Given the description of an element on the screen output the (x, y) to click on. 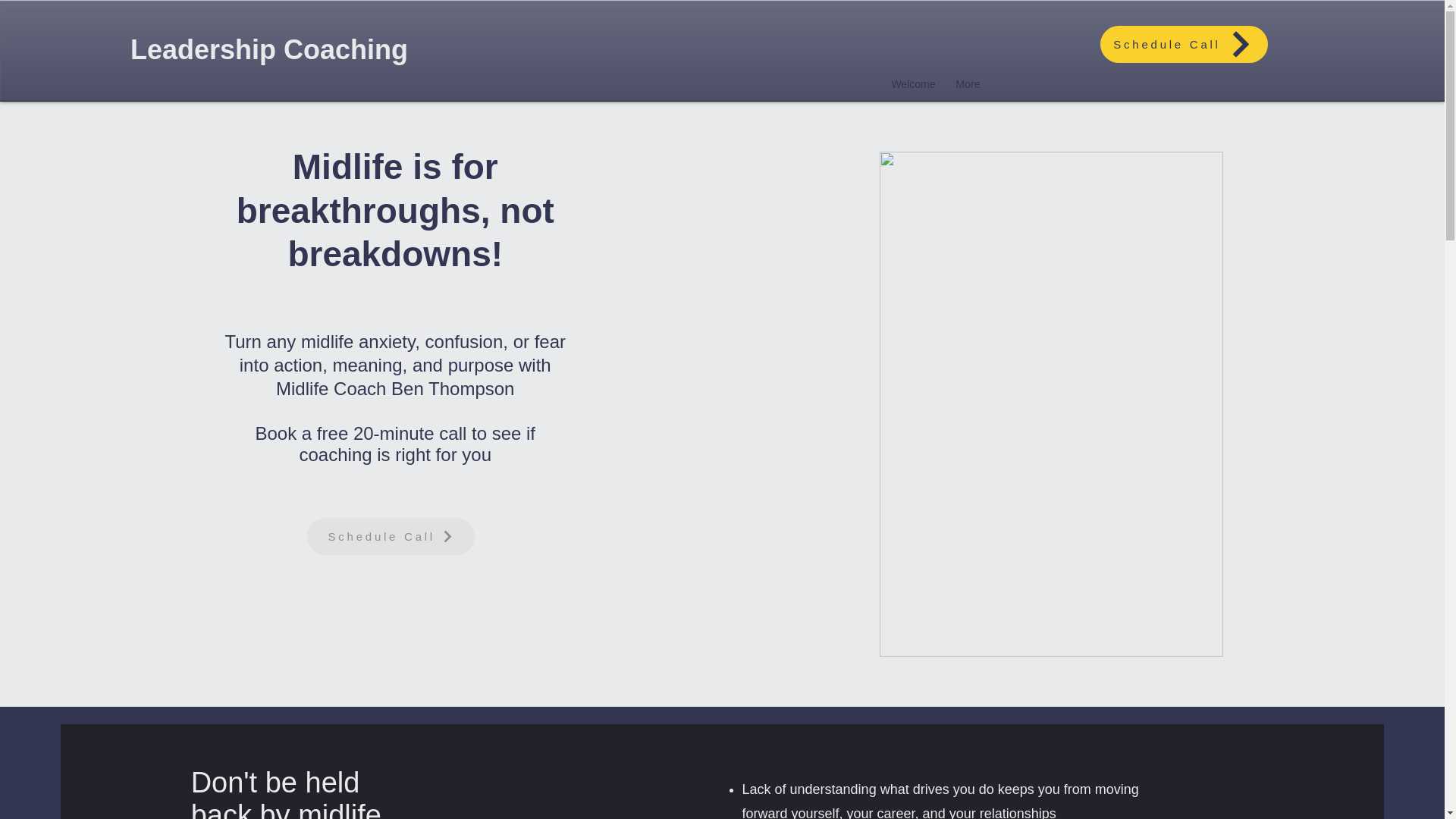
Schedule Call (390, 536)
Schedule Call (1184, 44)
Welcome (907, 84)
